Given the description of an element on the screen output the (x, y) to click on. 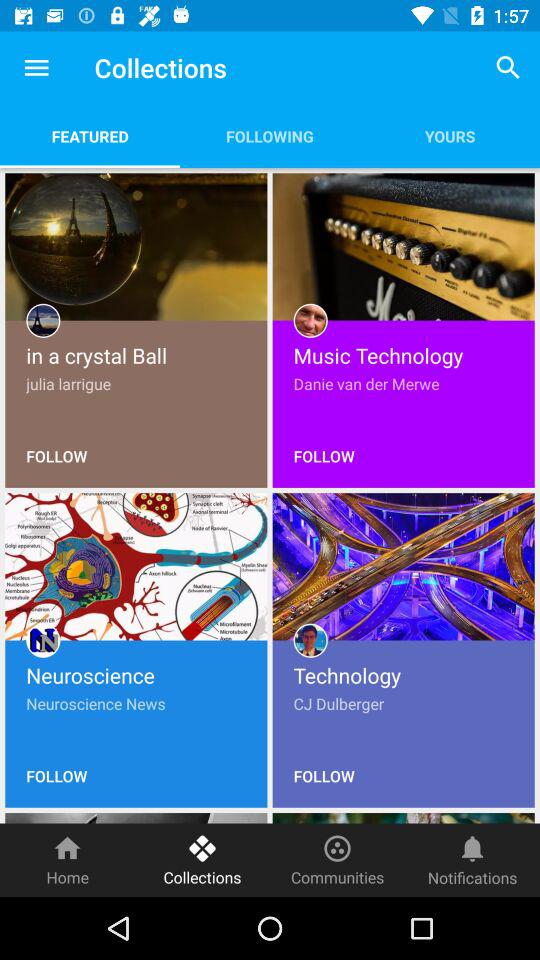
open icon above the featured item (36, 67)
